Given the description of an element on the screen output the (x, y) to click on. 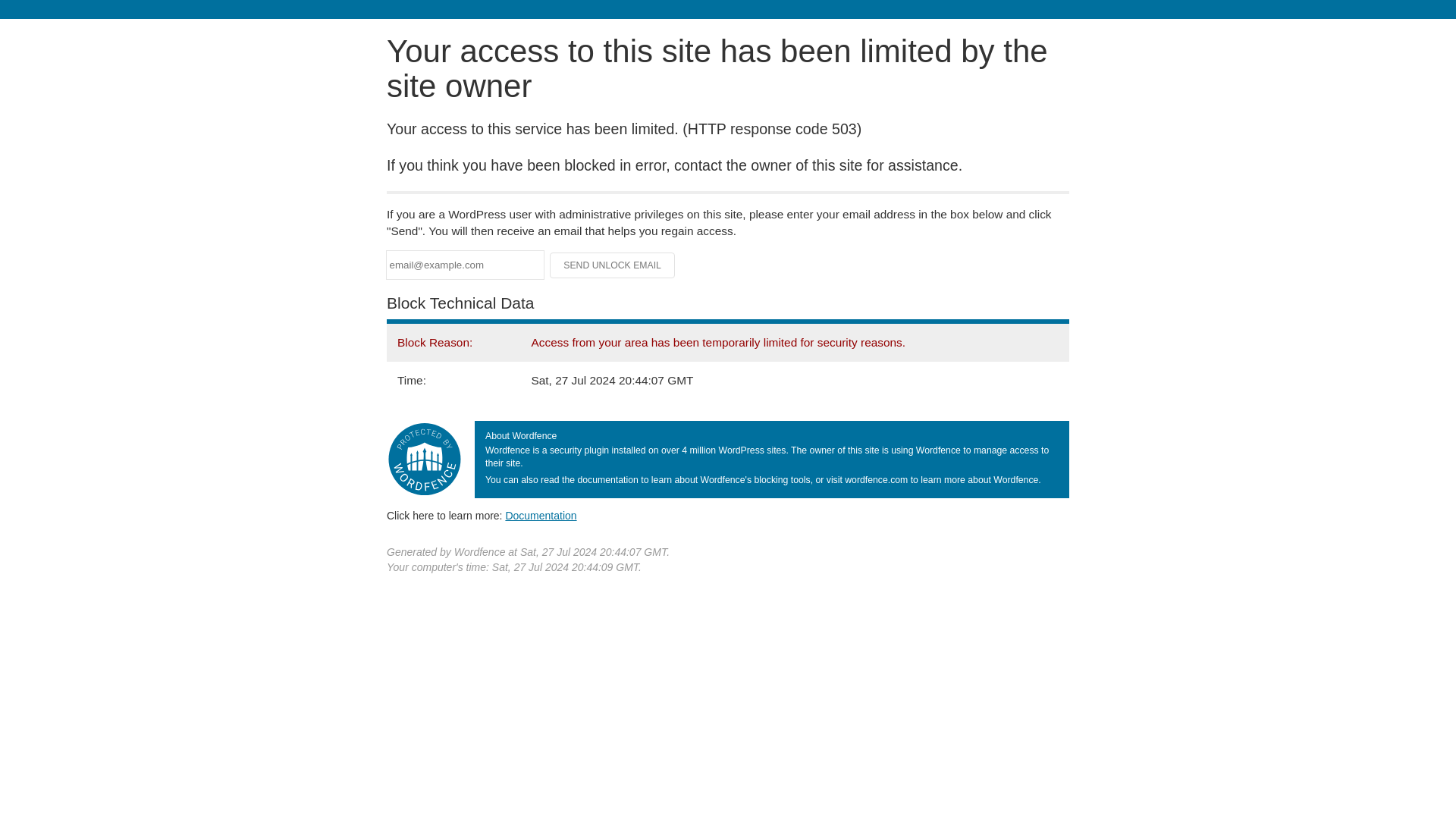
Send Unlock Email (612, 265)
Send Unlock Email (612, 265)
Documentation (540, 515)
